Given the description of an element on the screen output the (x, y) to click on. 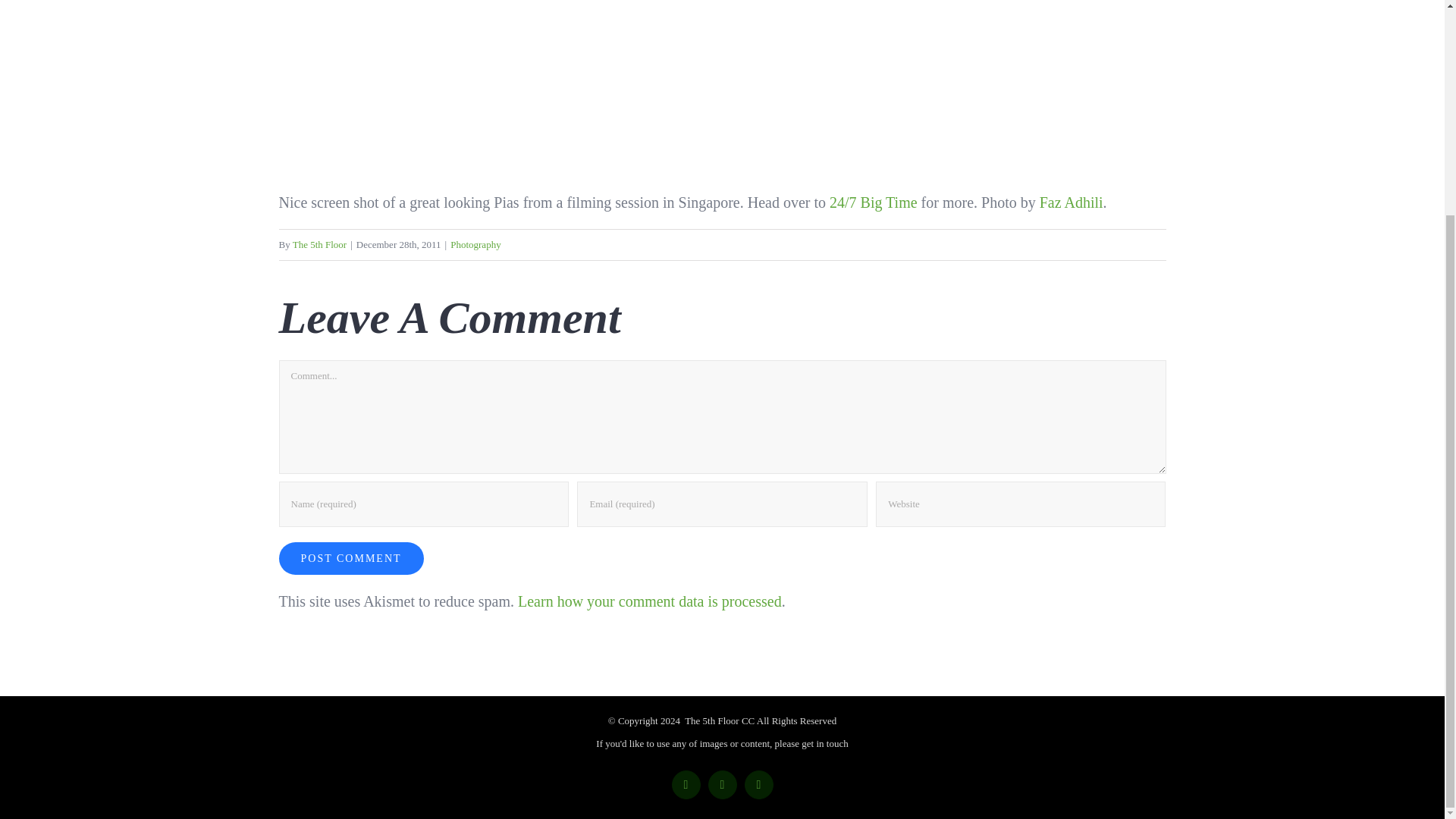
Instagram (758, 784)
Photography (474, 244)
Post Comment (351, 558)
Facebook (685, 784)
Instagram (758, 784)
Learn how your comment data is processed (649, 600)
Post Comment (351, 558)
Twitter (721, 784)
Posts by The 5th Floor (319, 244)
Twitter (721, 784)
The 5th Floor (319, 244)
Faz Adhili (1071, 202)
Facebook (685, 784)
